Given the description of an element on the screen output the (x, y) to click on. 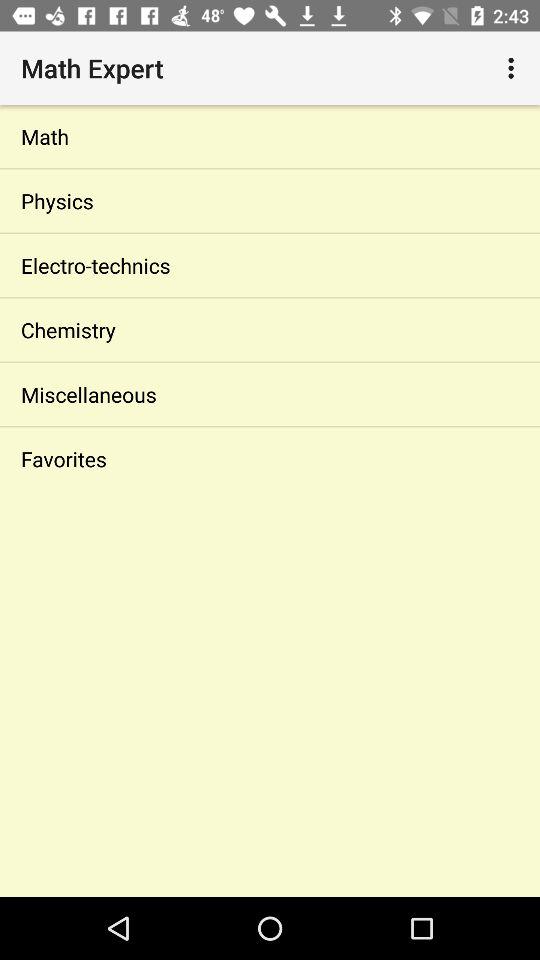
press icon above favorites app (270, 394)
